Given the description of an element on the screen output the (x, y) to click on. 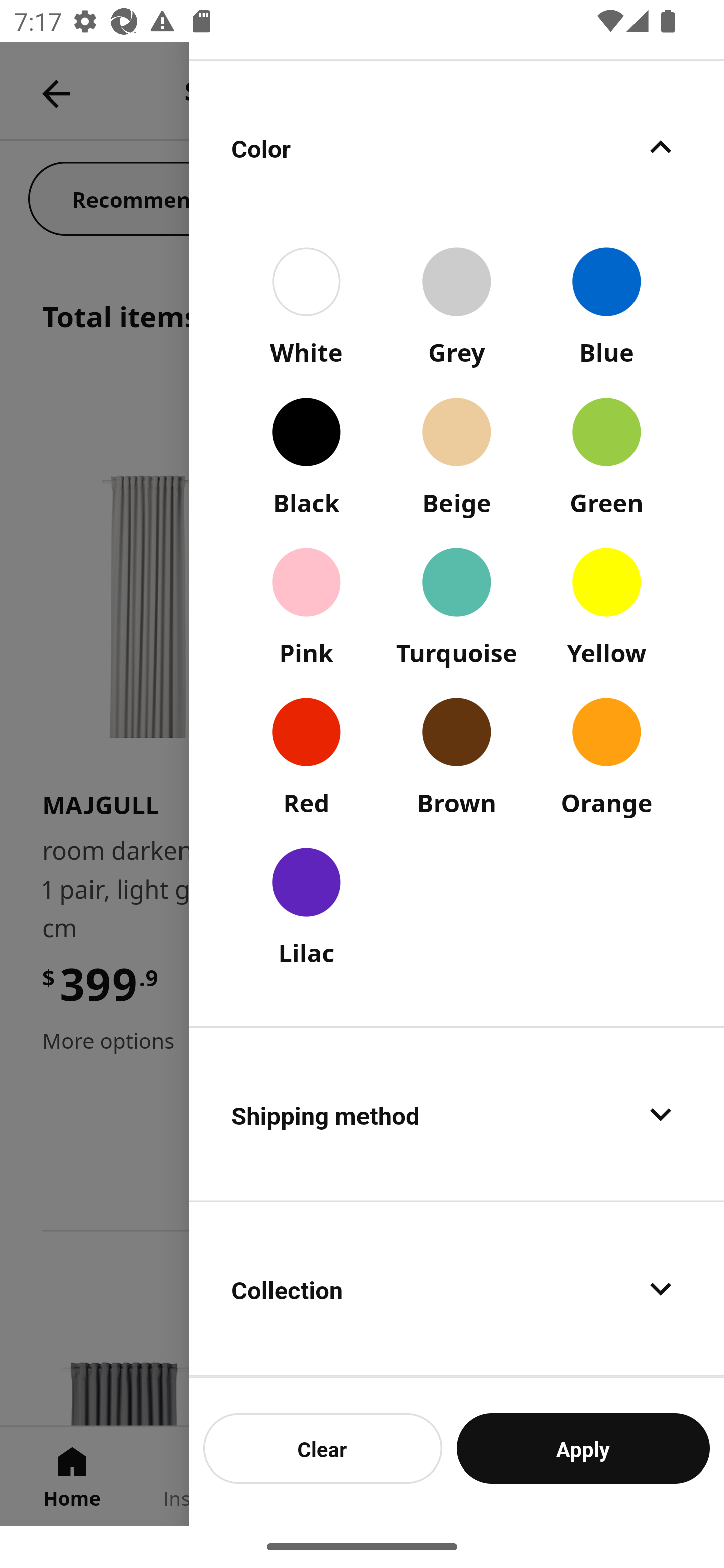
Color (456, 147)
Shipping method (456, 1113)
Collection (456, 1288)
Clear (322, 1447)
Apply (583, 1447)
